Given the description of an element on the screen output the (x, y) to click on. 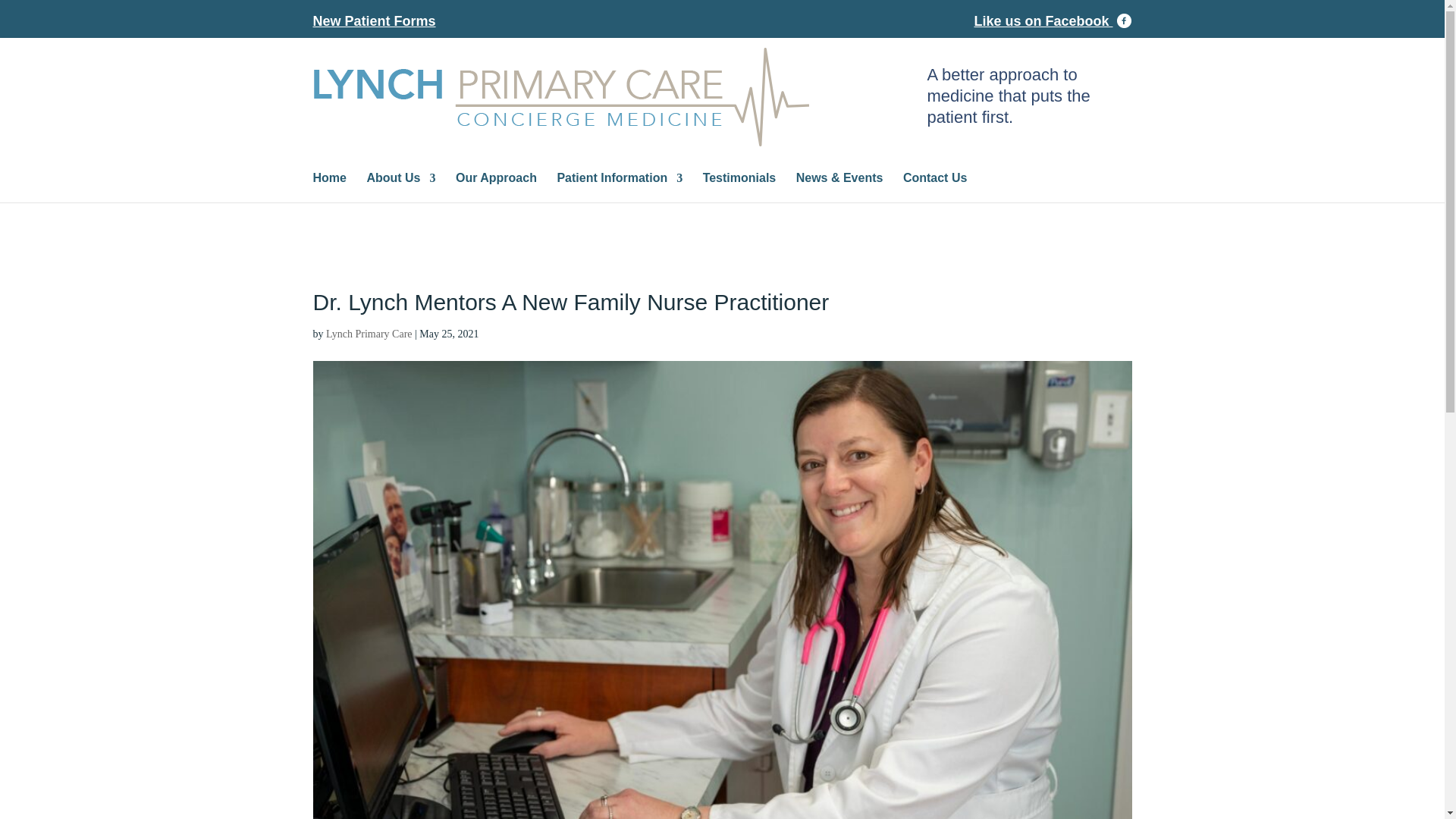
Lynch Primary Care (369, 333)
Contact Us (934, 187)
Home (329, 187)
Our Approach (496, 187)
Patient Information (619, 187)
Posts by Lynch Primary Care (369, 333)
Like us on Facebook (1052, 20)
About Us (400, 187)
New Patient Forms (374, 25)
Testimonials (739, 187)
